Given the description of an element on the screen output the (x, y) to click on. 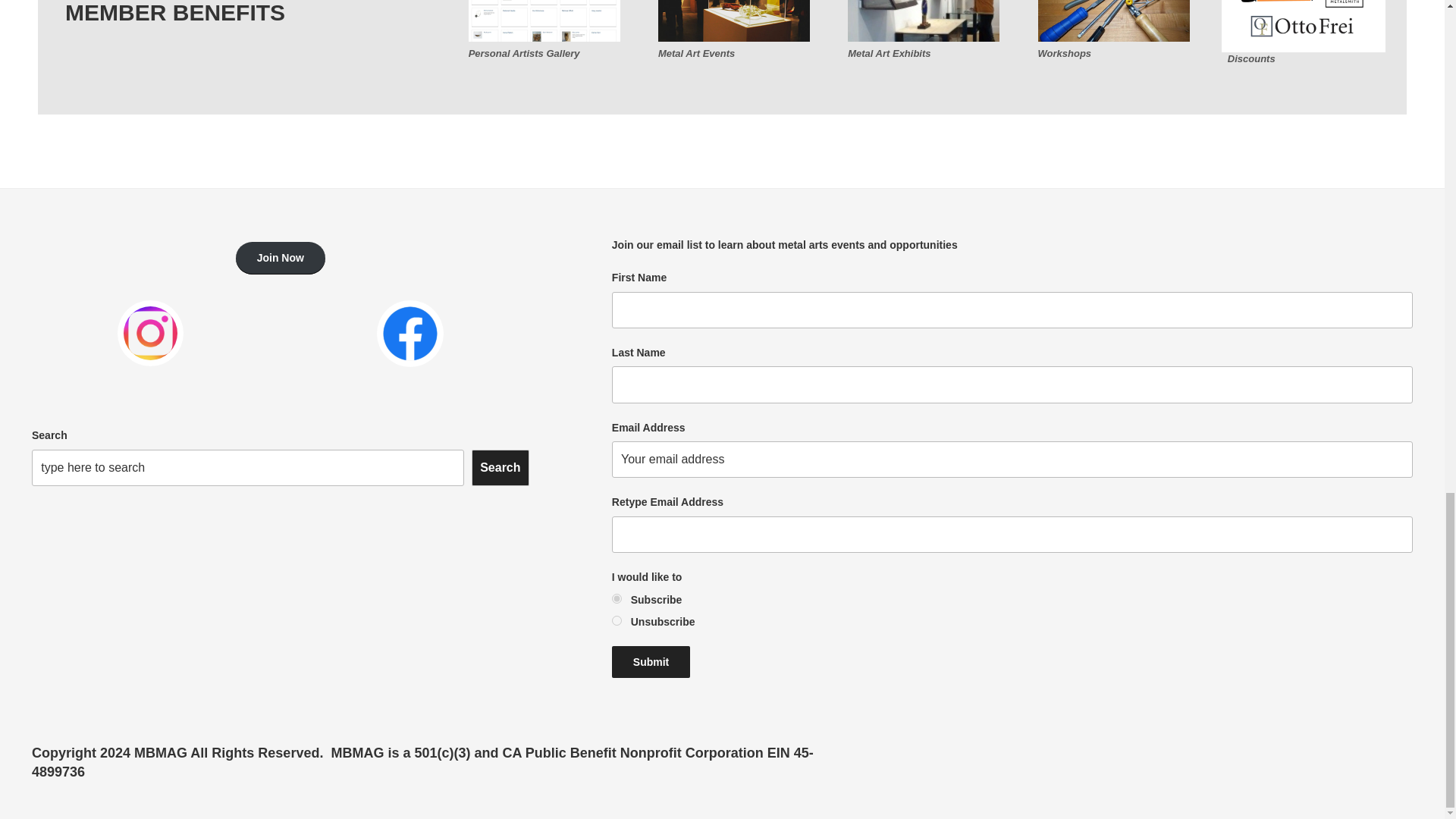
unsubscribe (616, 620)
subscribe (616, 598)
Submit (650, 662)
